Given the description of an element on the screen output the (x, y) to click on. 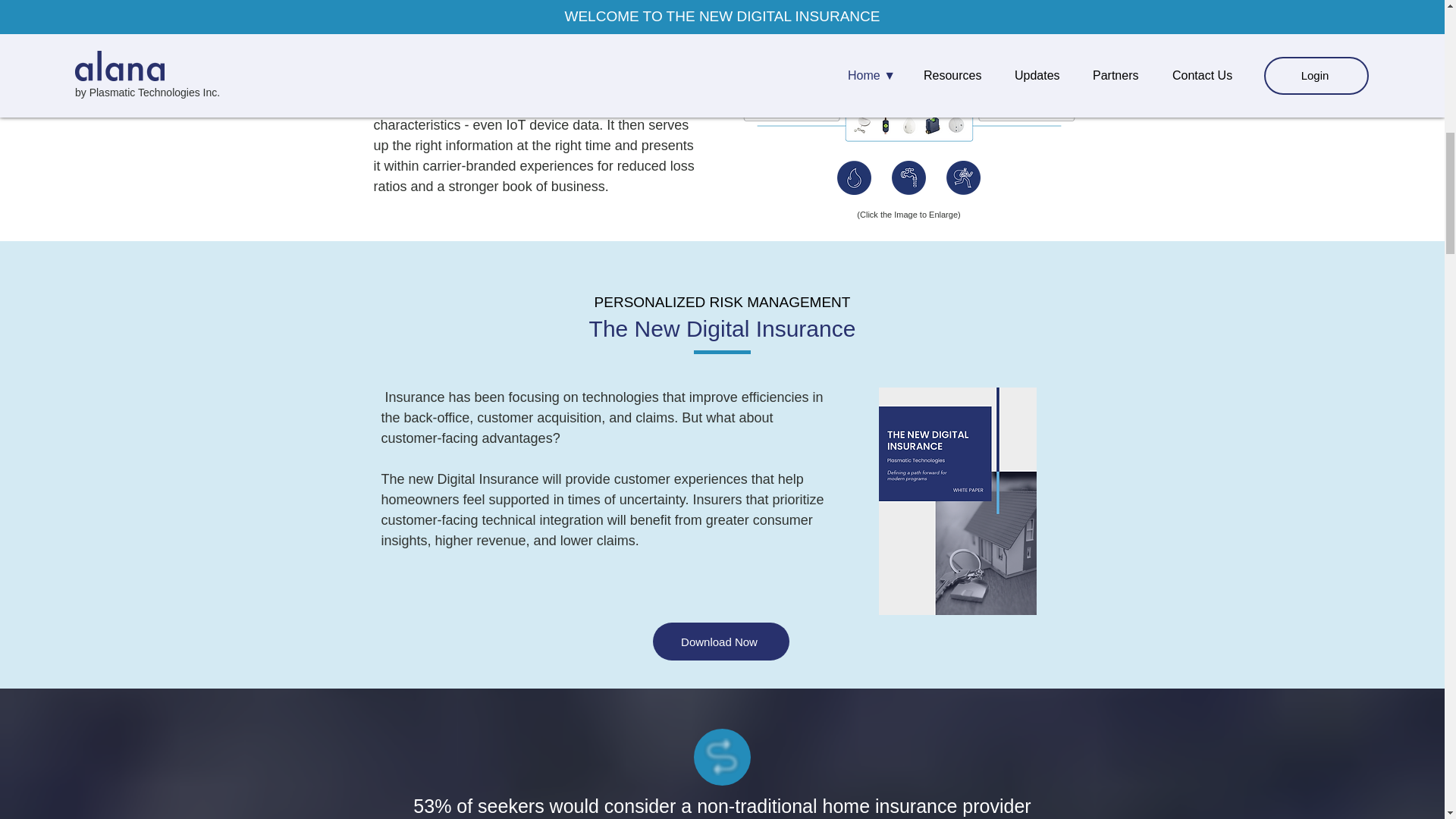
Download Now (720, 641)
